Given the description of an element on the screen output the (x, y) to click on. 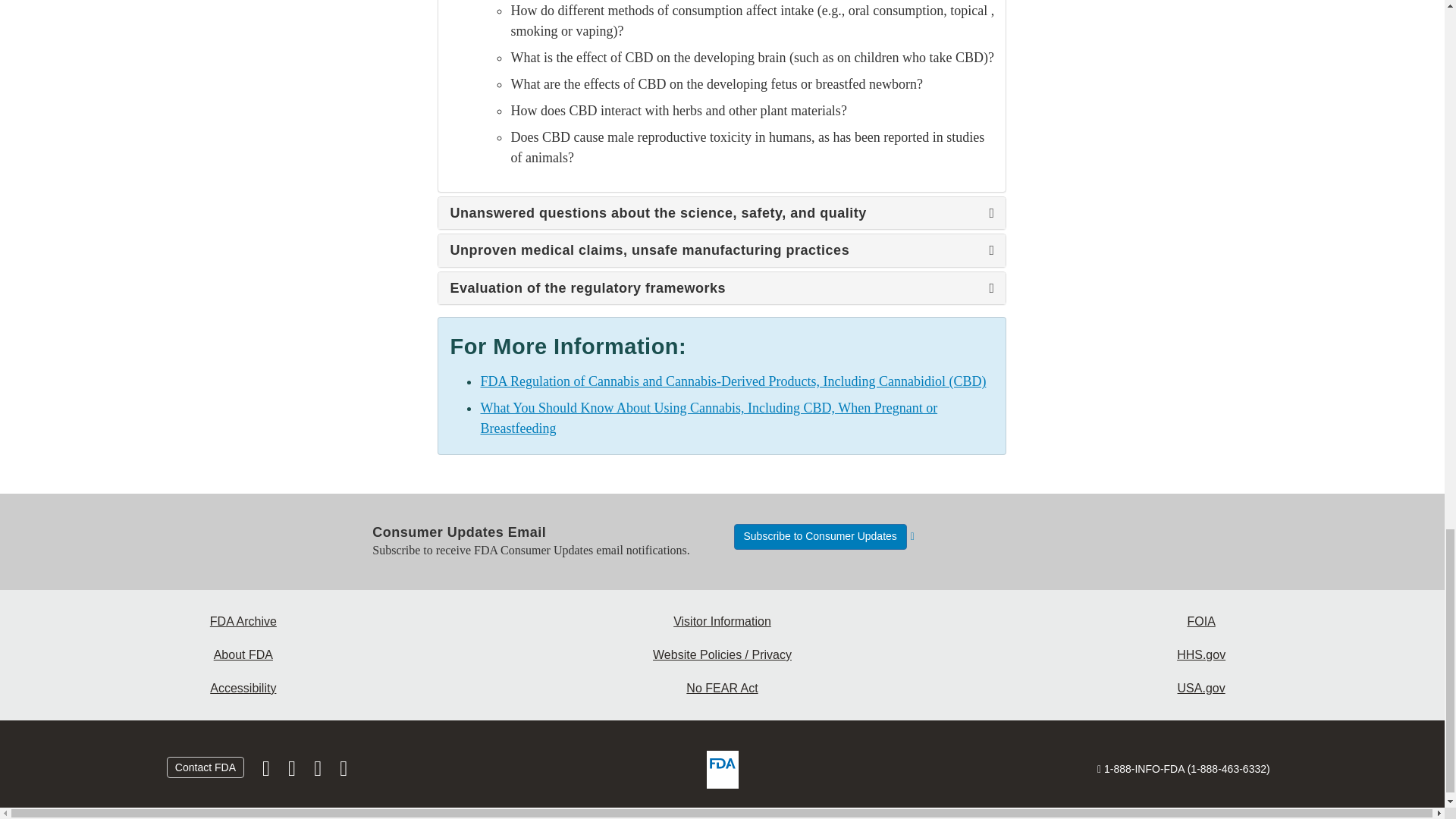
Potential harm, side effects and unknowns (722, 96)
Unanswered questions about the science, safety, and quality (722, 213)
Evaluation of the regulatory frameworks (722, 288)
Freedom of Information Act (1200, 621)
Unproven medical claims, unsafe manufacturing practices (722, 250)
